Given the description of an element on the screen output the (x, y) to click on. 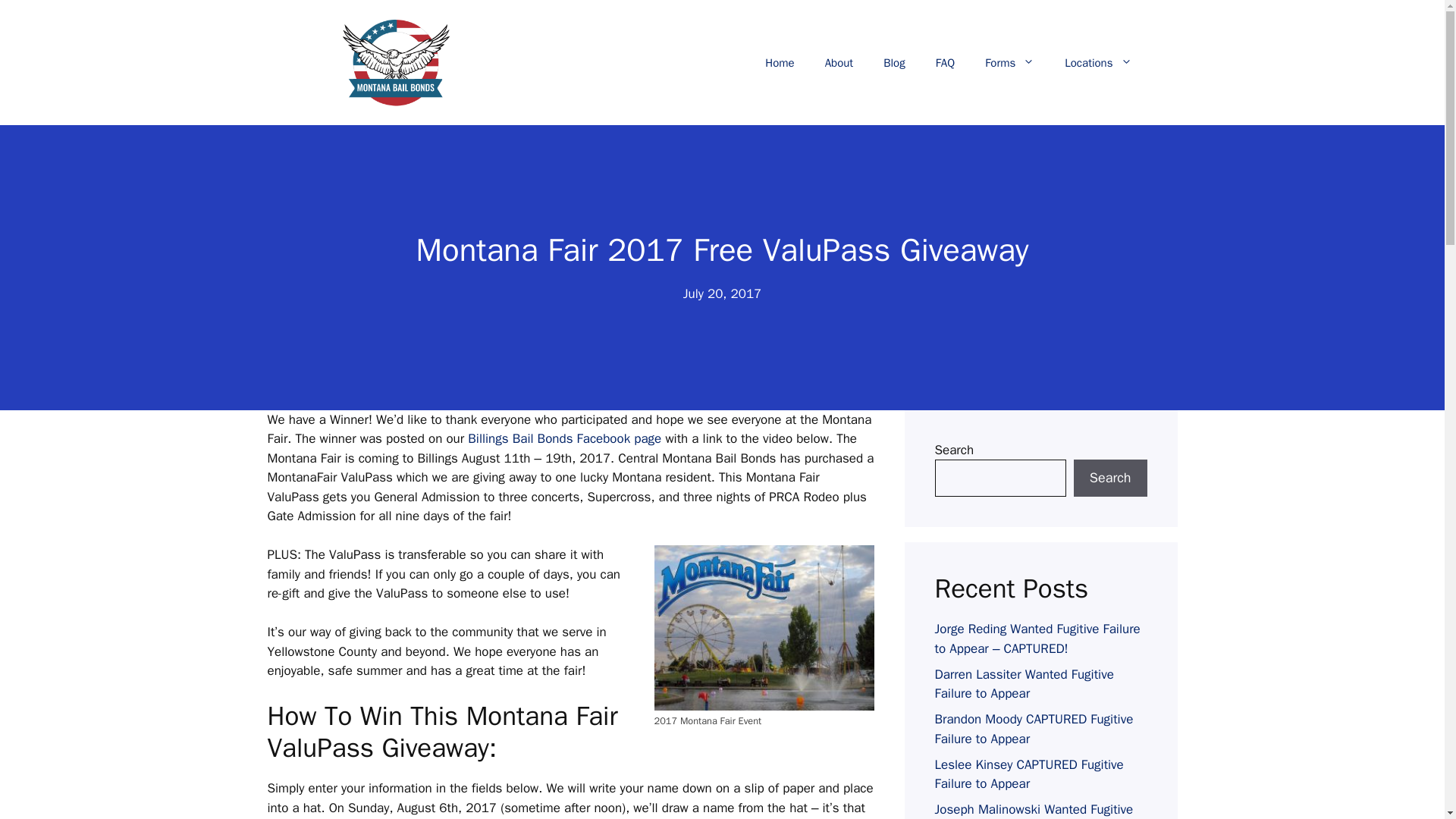
About (838, 62)
Locations (1098, 62)
FAQ (944, 62)
Home (779, 62)
Forms (1009, 62)
Blog (893, 62)
